Given the description of an element on the screen output the (x, y) to click on. 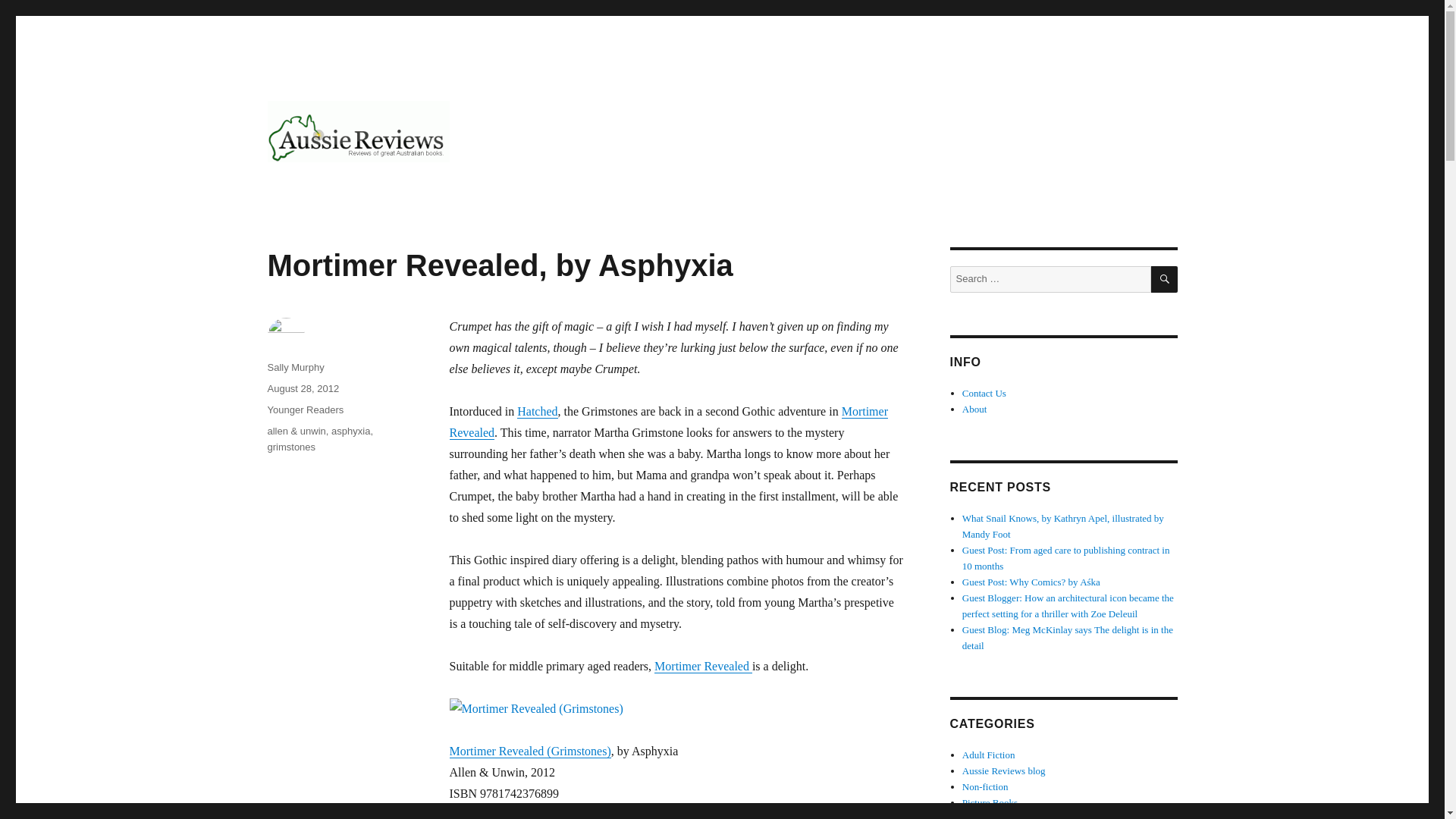
Picture Books (989, 802)
Mortimer Revealed (702, 666)
Aussie Reviews (347, 186)
Non-fiction (985, 786)
Guest Blog: Meg McKinlay says The delight is in the detail (1067, 637)
SEARCH (1164, 279)
Younger Readers (304, 409)
August 28, 2012 (302, 388)
Contact Us (984, 392)
Sally Murphy (294, 367)
Mortimer Revealed (668, 421)
Uncategorised (990, 816)
Hatched (536, 410)
Aussie Reviews blog (1003, 770)
